Given the description of an element on the screen output the (x, y) to click on. 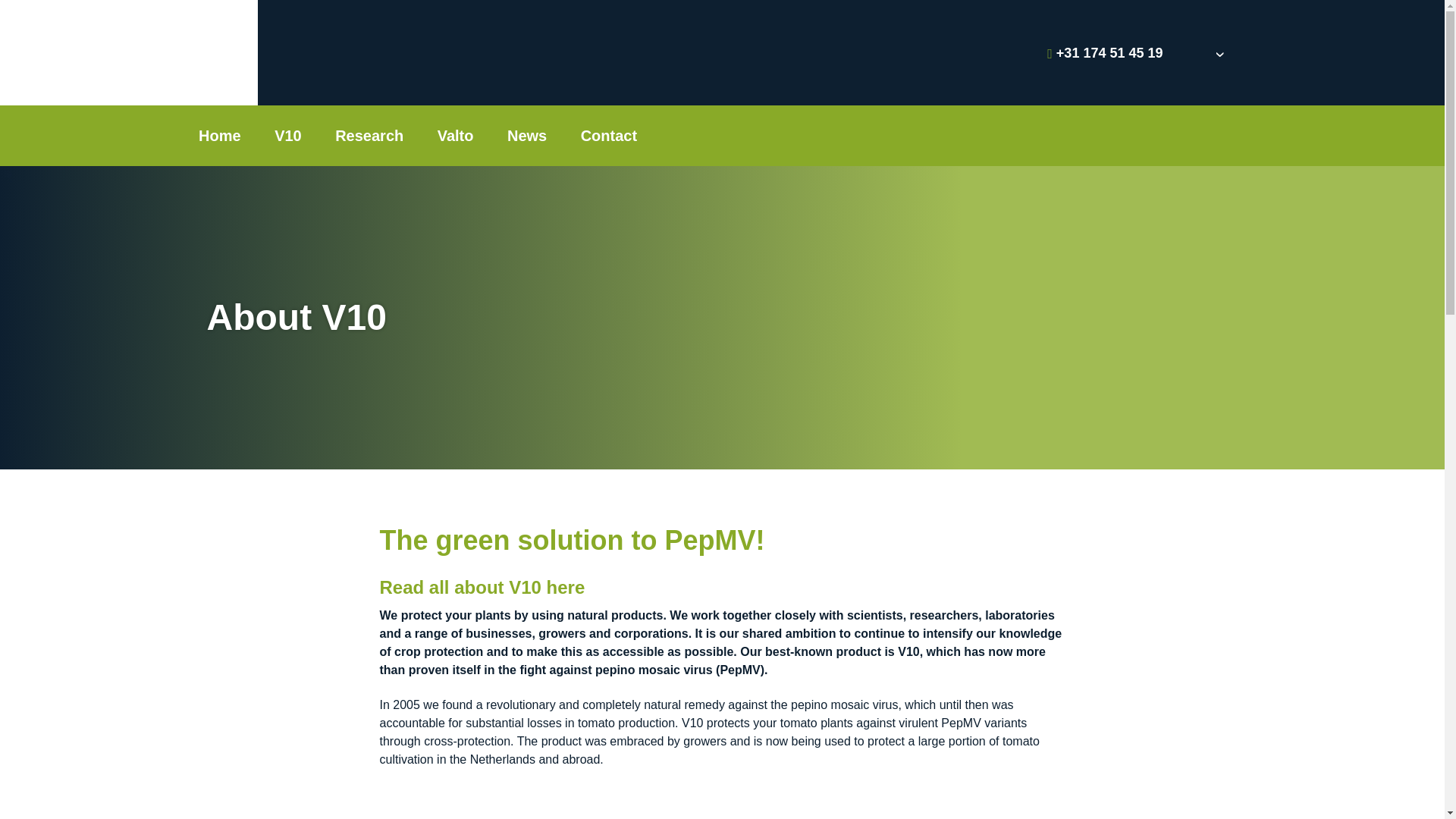
Valto (455, 135)
Home (219, 135)
Research (369, 135)
V10 (288, 135)
Contact (609, 135)
News (527, 135)
Valto B.V. (117, 52)
